Given the description of an element on the screen output the (x, y) to click on. 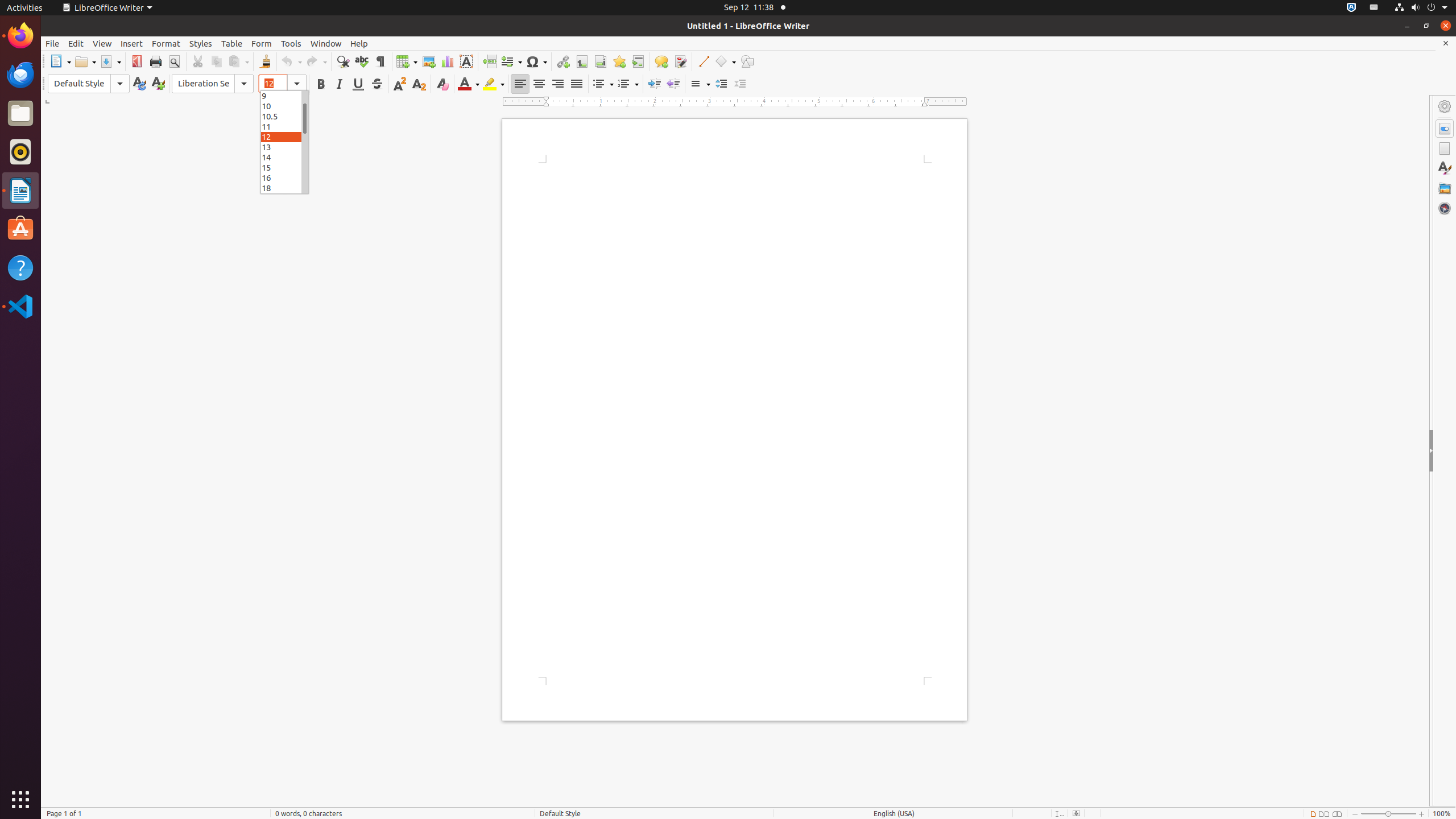
System Element type: menu (1420, 7)
Tools Element type: menu (290, 43)
Edit Element type: menu (75, 43)
16 Element type: list-item (284, 177)
Strikethrough Element type: toggle-button (376, 83)
